Given the description of an element on the screen output the (x, y) to click on. 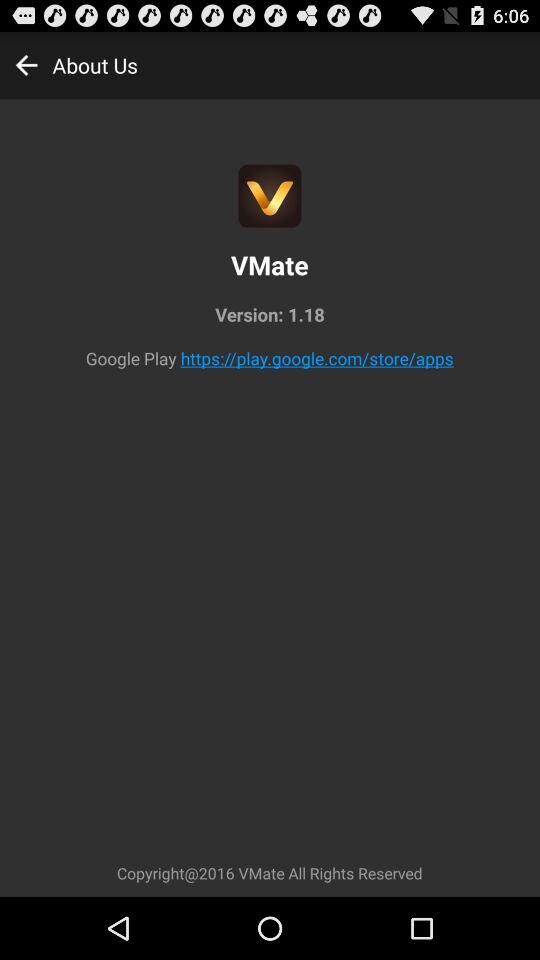
choose the icon to the left of about us icon (26, 64)
